Given the description of an element on the screen output the (x, y) to click on. 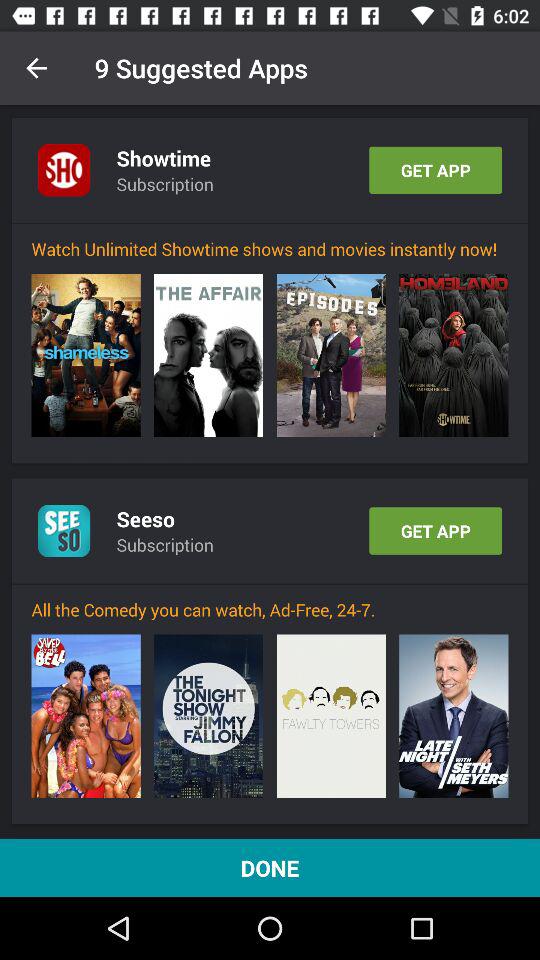
launch the icon above the done (85, 716)
